Given the description of an element on the screen output the (x, y) to click on. 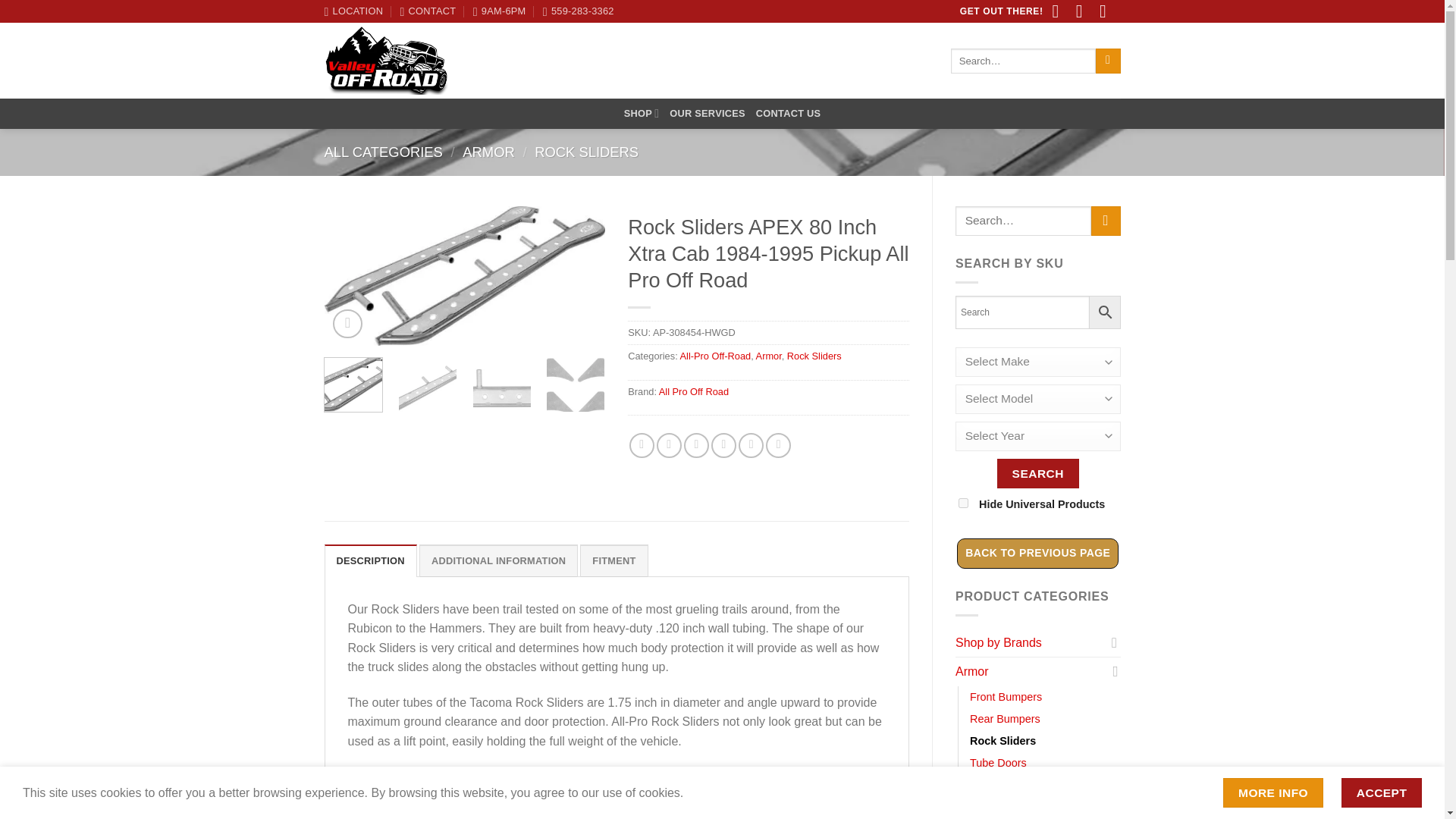
1 (963, 502)
CONTACT (428, 11)
Share on Twitter (668, 445)
Follow on Instagram (1084, 14)
Shop by Brands (1030, 642)
Search (1037, 473)
9AM-6PM (499, 11)
Valley Off Road - Get out there! (386, 60)
CONTACT US (788, 113)
559-283-3362 (578, 11)
ARMOR (488, 151)
Search (1037, 473)
